Given the description of an element on the screen output the (x, y) to click on. 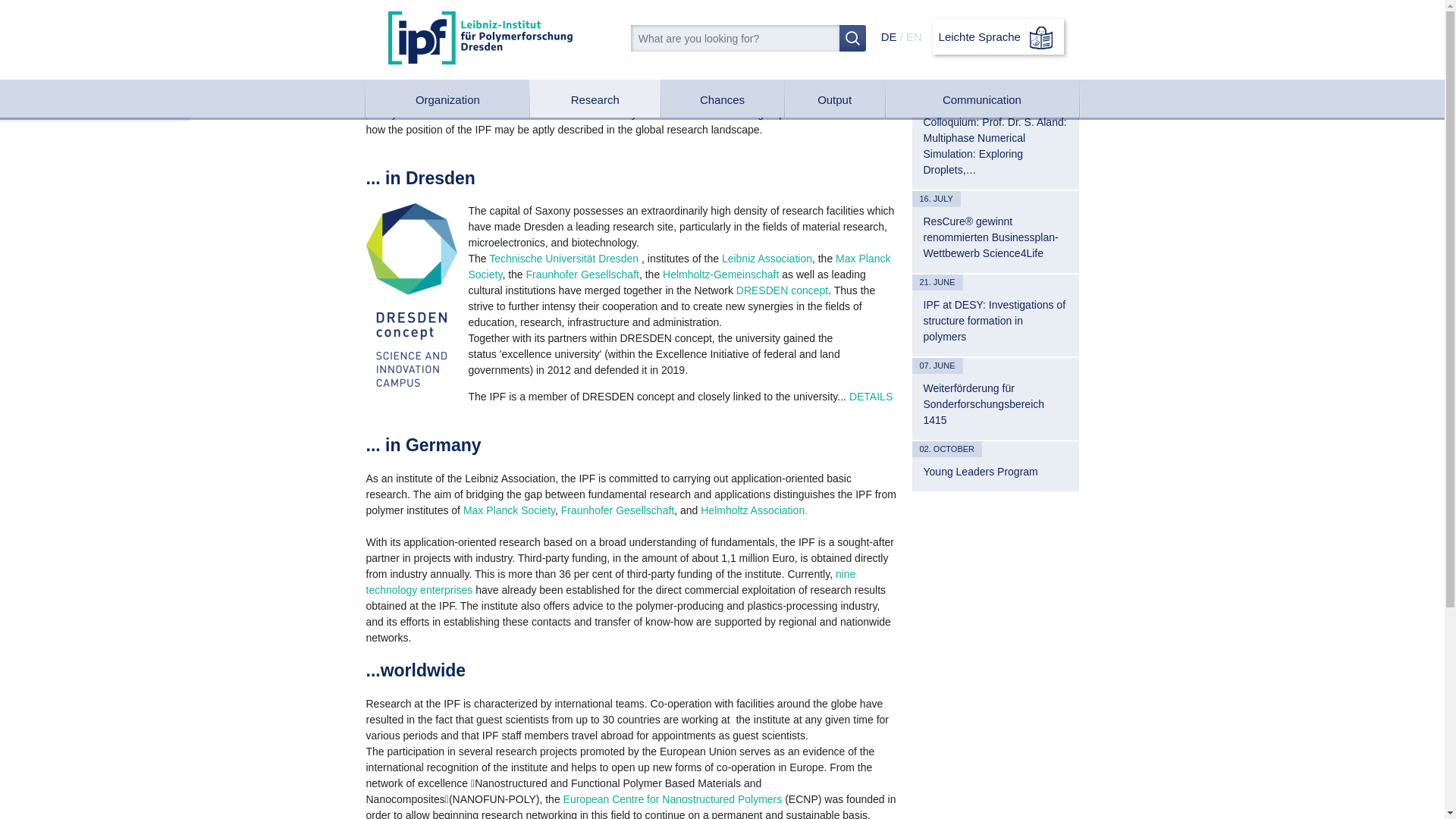
Research (595, 99)
Chances (722, 99)
Communication (981, 99)
Young Leaders Program (994, 471)
Output (834, 99)
DE (888, 36)
Deutsch (888, 36)
Organization (447, 99)
Leichte Sprache (997, 36)
